Given the description of an element on the screen output the (x, y) to click on. 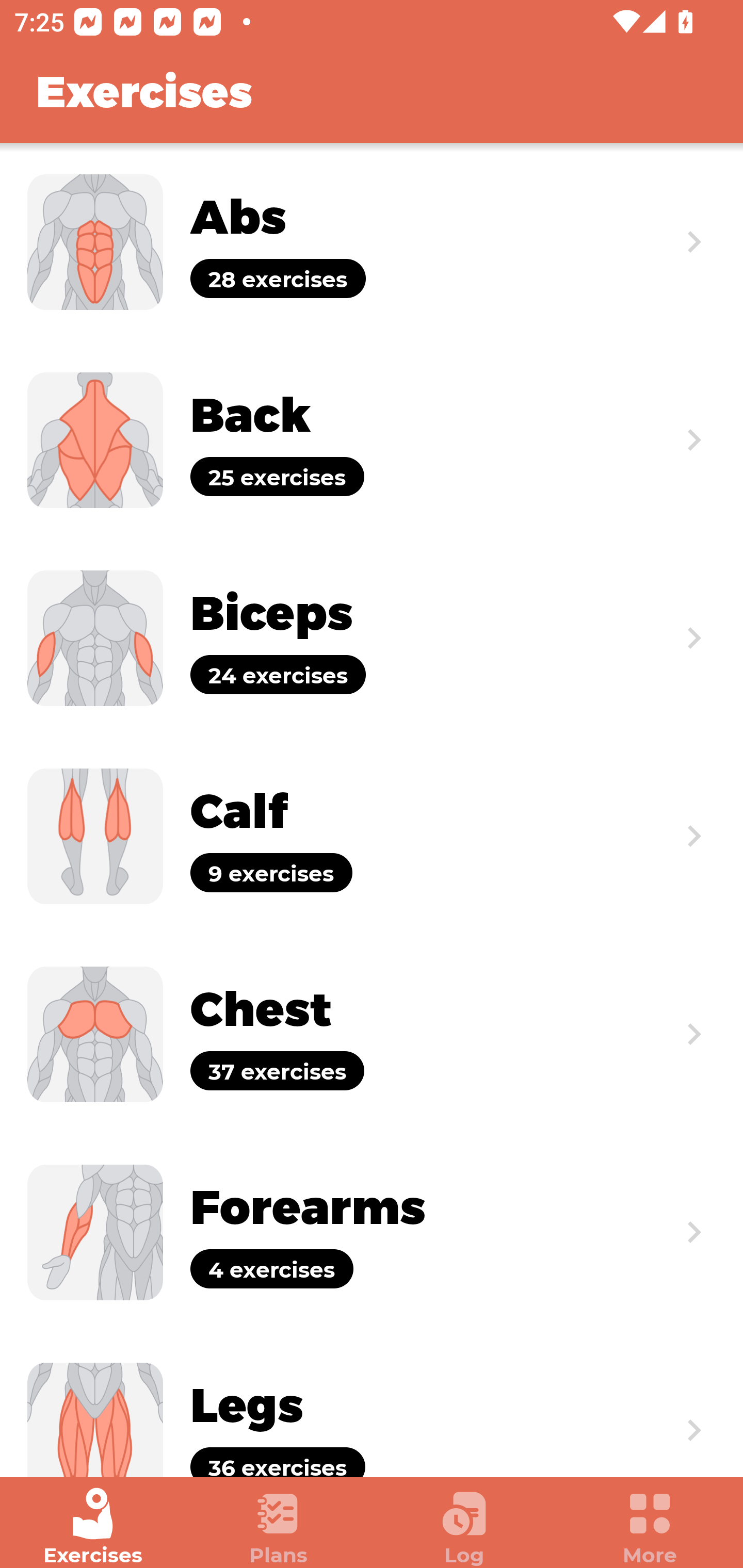
Exercise Abs 28 exercises (371, 241)
Exercise Back 25 exercises (371, 439)
Exercise Biceps 24 exercises (371, 637)
Exercise Calf 9 exercises (371, 836)
Exercise Chest 37 exercises (371, 1033)
Exercise Forearms 4 exercises (371, 1232)
Exercise Legs 36 exercises (371, 1404)
Exercises (92, 1527)
Plans (278, 1527)
Log (464, 1527)
More (650, 1527)
